Given the description of an element on the screen output the (x, y) to click on. 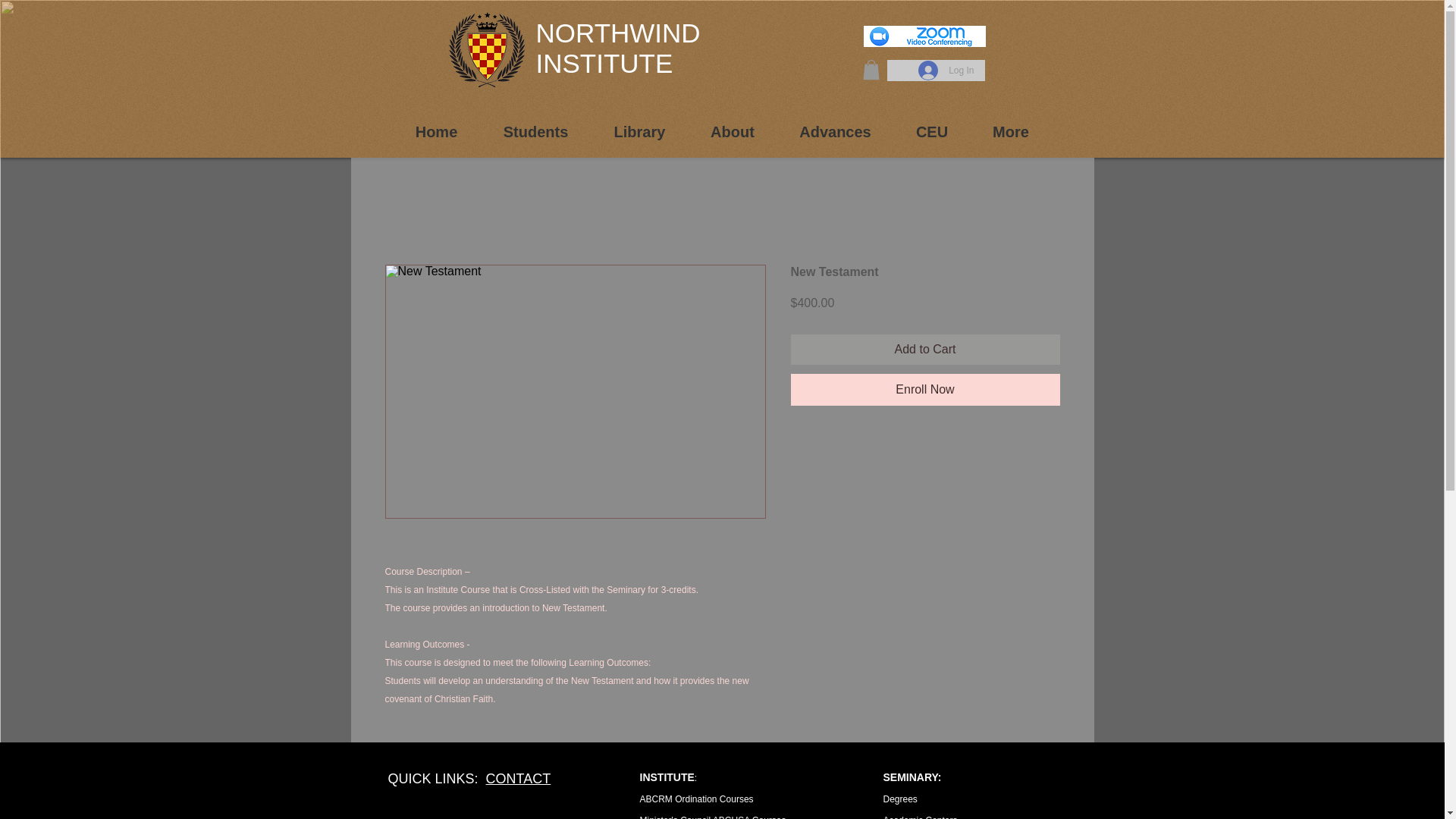
Enroll Now (924, 389)
Advances (834, 131)
Home (436, 131)
Log In (945, 70)
Add to Cart (924, 349)
SEMINARY: (911, 776)
Library (639, 131)
About (732, 131)
Students (535, 131)
INSTITUTE: (668, 777)
